Given the description of an element on the screen output the (x, y) to click on. 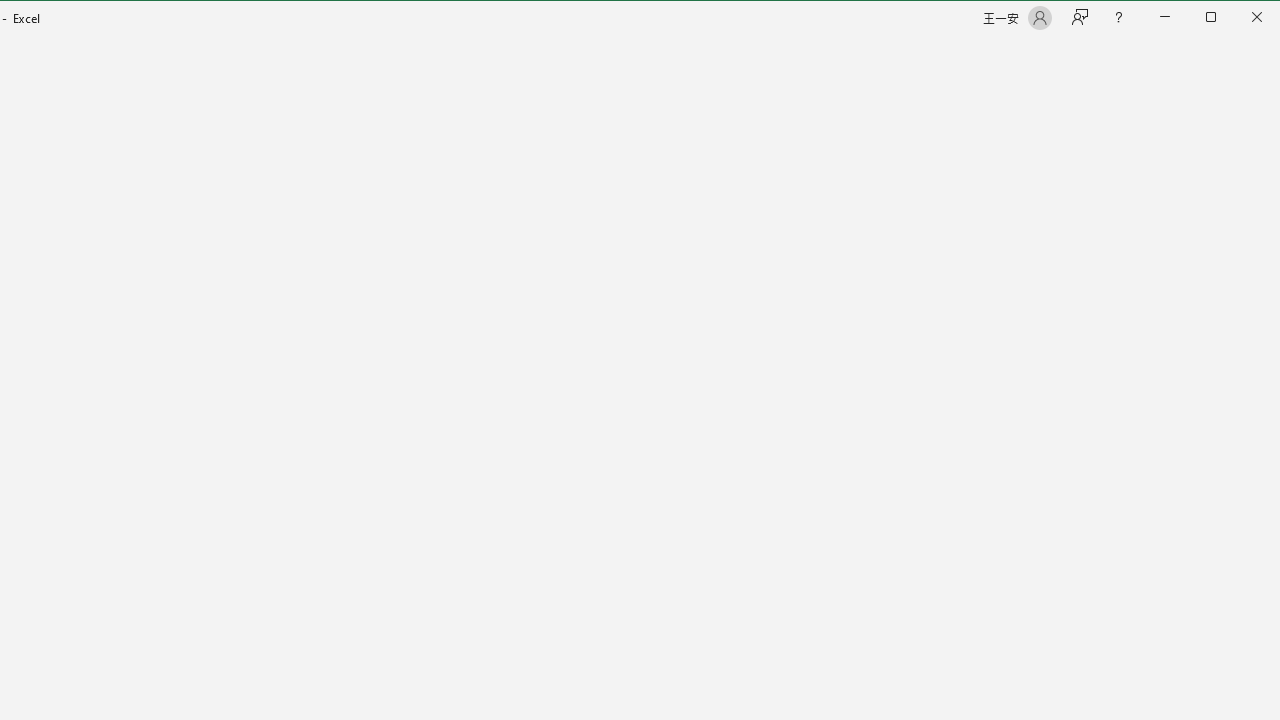
Maximize (1239, 18)
